Given the description of an element on the screen output the (x, y) to click on. 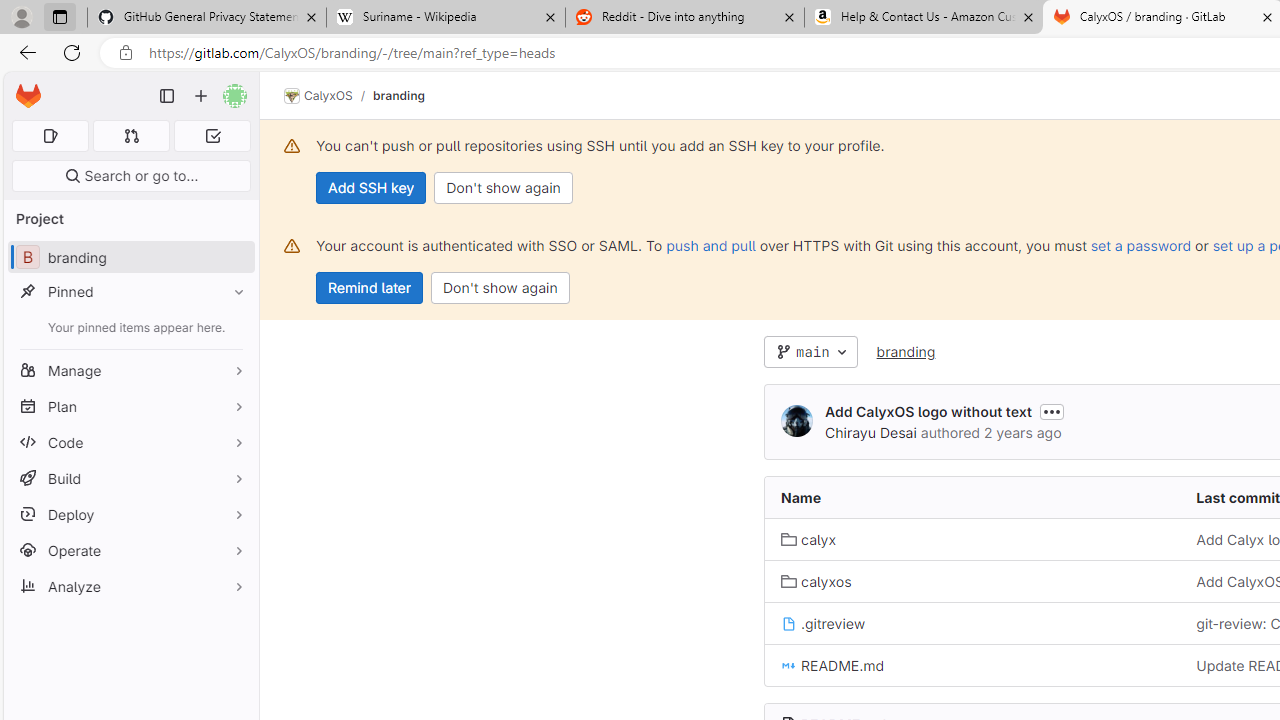
Remind later (369, 287)
.gitreview (823, 623)
Operate (130, 550)
calyxos (816, 580)
Build (130, 478)
Chirayu Desai (870, 432)
README.md (832, 665)
Add SSH key (371, 187)
main (810, 351)
Code (130, 442)
Class: s16 gl-alert-icon gl-alert-icon-no-title (291, 246)
calyxos (973, 581)
